Given the description of an element on the screen output the (x, y) to click on. 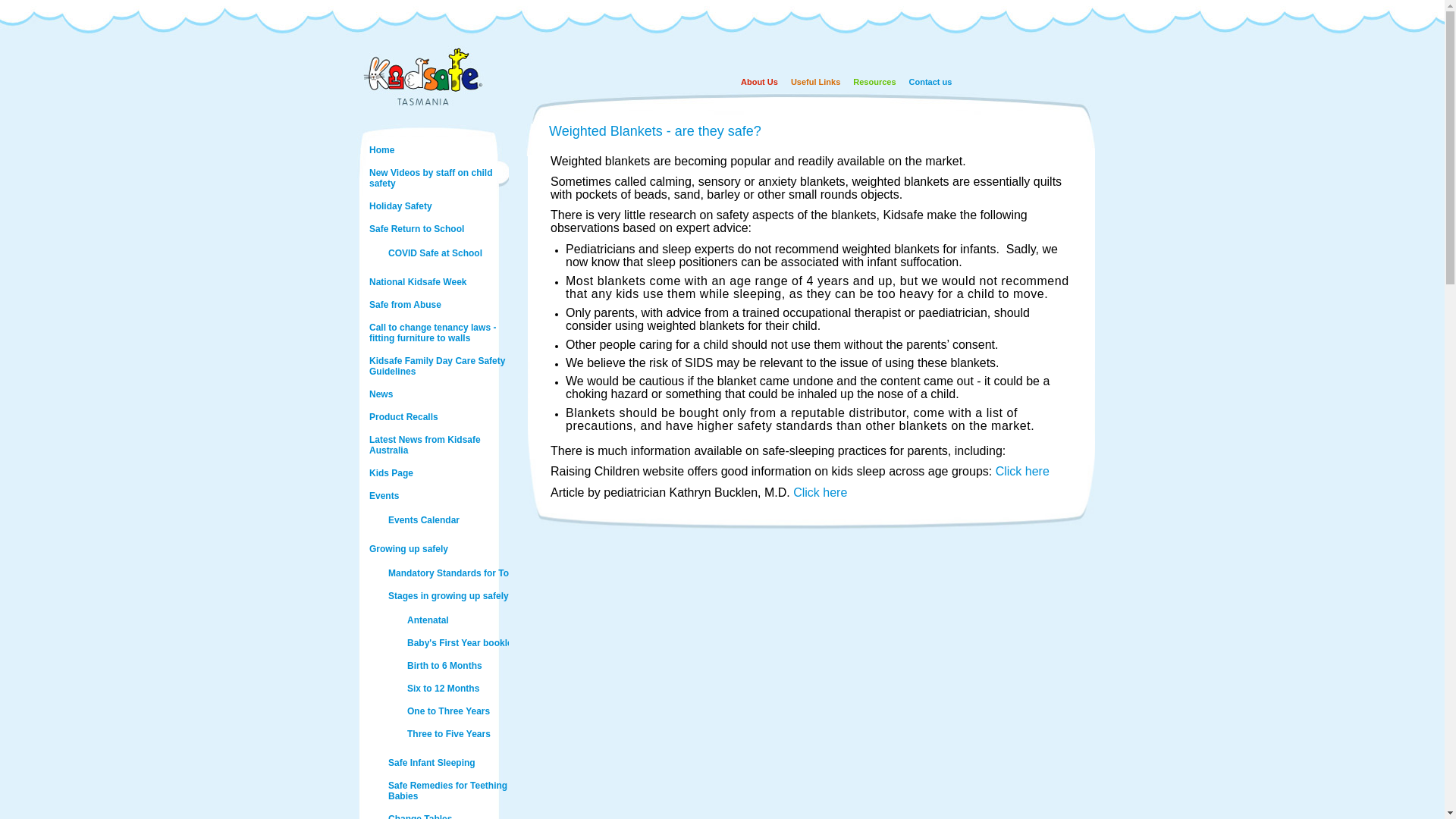
Click here Element type: text (820, 492)
Baby's First Year booklet Element type: text (475, 642)
Mandatory Standards for Toys Element type: text (456, 572)
New Videos by staff on child safety Element type: text (437, 177)
Stages in growing up safely Element type: text (456, 595)
COVID Safe at School Element type: text (456, 252)
Useful Links Element type: text (809, 80)
One to Three Years Element type: text (475, 711)
Safe from Abuse Element type: text (437, 304)
Kidsafe Family Day Care Safety Guidelines Element type: text (437, 365)
Call to change tenancy laws - fitting furniture to walls Element type: text (437, 332)
Six to 12 Months Element type: text (475, 688)
News Element type: text (437, 394)
About Us Element type: text (753, 80)
Safe Return to School Element type: text (437, 228)
Product Recalls Element type: text (437, 416)
Click here Element type: text (1022, 470)
National Kidsafe Week Element type: text (437, 281)
Home Element type: text (437, 149)
Events Element type: text (437, 495)
Safe Infant Sleeping Element type: text (456, 762)
Events Calendar Element type: text (456, 519)
Resources Element type: text (867, 80)
Antenatal Element type: text (475, 620)
Kids Page Element type: text (437, 472)
Growing up safely Element type: text (437, 548)
Latest News from Kidsafe Australia Element type: text (437, 444)
Three to Five Years Element type: text (475, 733)
Safe Remedies for Teething Babies Element type: text (456, 790)
Kidsafe Tasmania Homepage Element type: hover (421, 104)
Birth to 6 Months Element type: text (475, 665)
Contact us Element type: text (924, 80)
Holiday Safety Element type: text (437, 205)
